Given the description of an element on the screen output the (x, y) to click on. 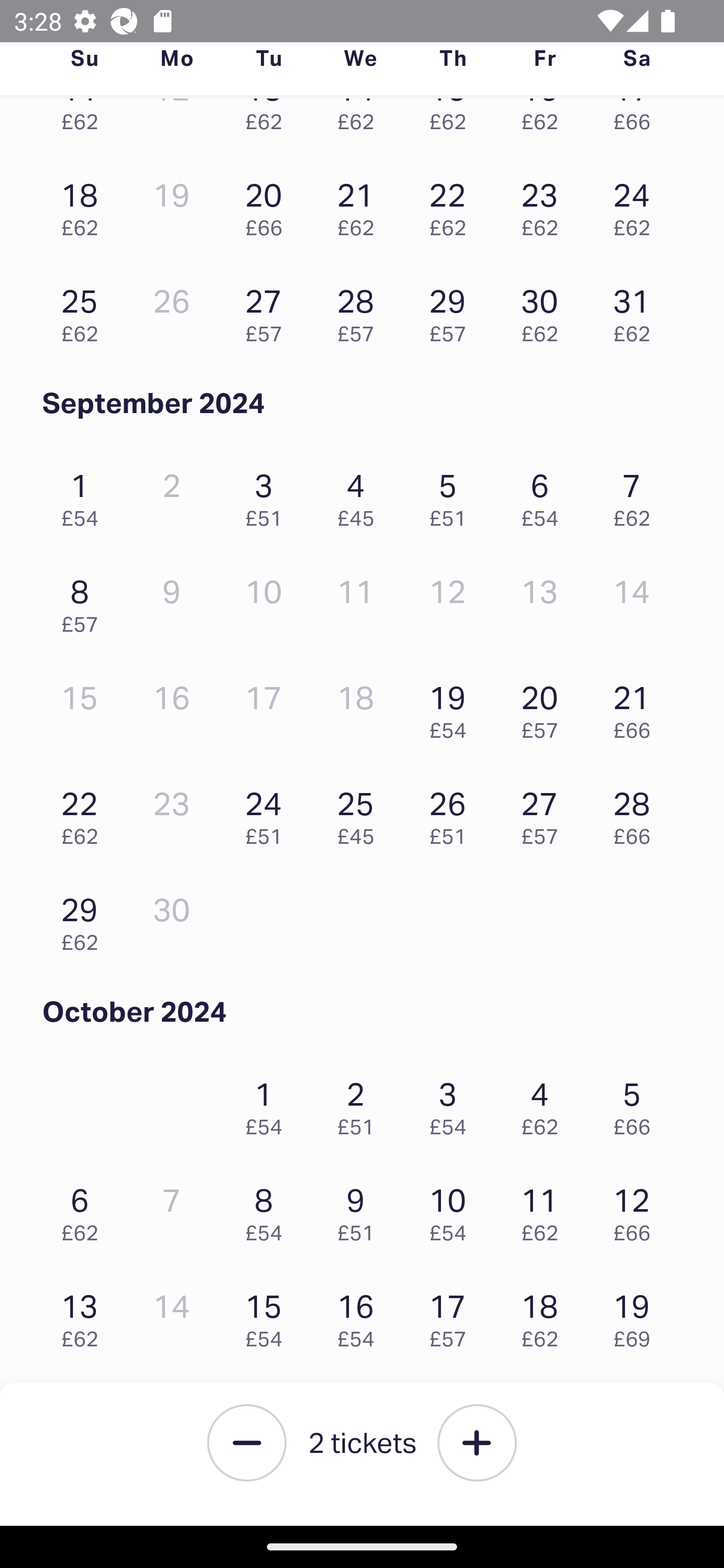
18 £62 (84, 204)
20 £66 (268, 204)
21 £62 (360, 204)
22 £62 (452, 204)
23 £62 (544, 204)
24 £62 (636, 204)
25 £62 (84, 310)
27 £57 (268, 310)
28 £57 (360, 310)
29 £57 (452, 310)
30 £62 (544, 310)
31 £62 (636, 310)
1 £54 (84, 494)
3 £51 (268, 494)
4 £45 (360, 494)
5 £51 (452, 494)
6 £54 (544, 494)
7 £62 (636, 494)
8 £57 (84, 600)
19 £54 (452, 707)
20 £57 (544, 707)
21 £66 (636, 707)
22 £62 (84, 812)
24 £51 (268, 812)
25 £45 (360, 812)
26 £51 (452, 812)
27 £57 (544, 812)
28 £66 (636, 812)
29 £62 (84, 919)
1 £54 (268, 1103)
2 £51 (360, 1103)
3 £54 (452, 1103)
4 £62 (544, 1103)
5 £66 (636, 1103)
6 £62 (84, 1209)
8 £54 (268, 1209)
9 £51 (360, 1209)
10 £54 (452, 1209)
11 £62 (544, 1209)
12 £66 (636, 1209)
13 £62 (84, 1315)
15 £54 (268, 1315)
16 £54 (360, 1315)
17 £57 (452, 1315)
18 £62 (544, 1315)
19 £69 (636, 1315)
